Given the description of an element on the screen output the (x, y) to click on. 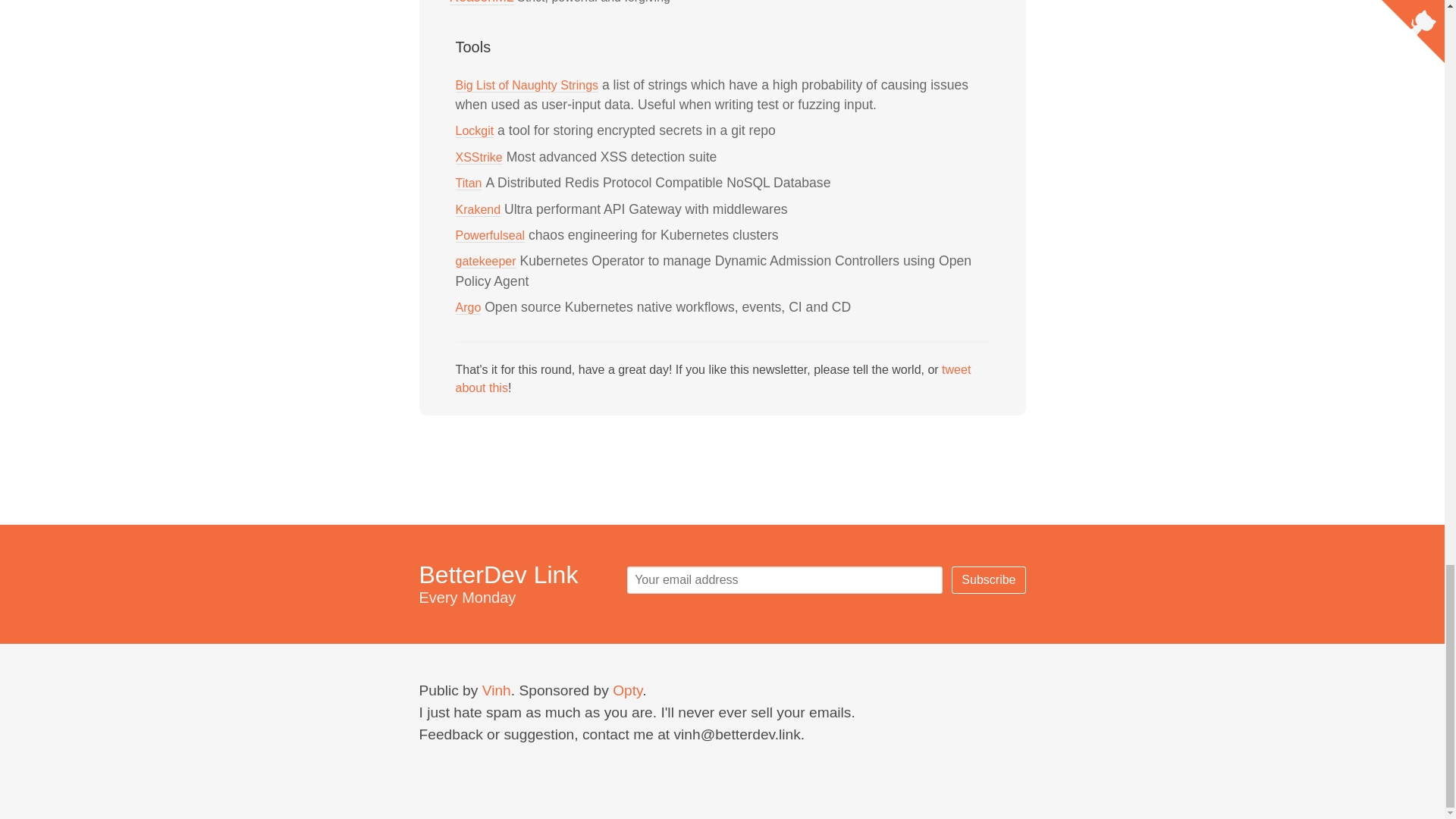
Big List of Naughty Strings (526, 85)
Powerfulseal (489, 235)
Titan (467, 183)
Argo (467, 307)
Subscribe (988, 579)
Krakend (477, 209)
XSStrike (478, 157)
gatekeeper (484, 261)
Subscribe (988, 579)
ReasonML (480, 2)
